Given the description of an element on the screen output the (x, y) to click on. 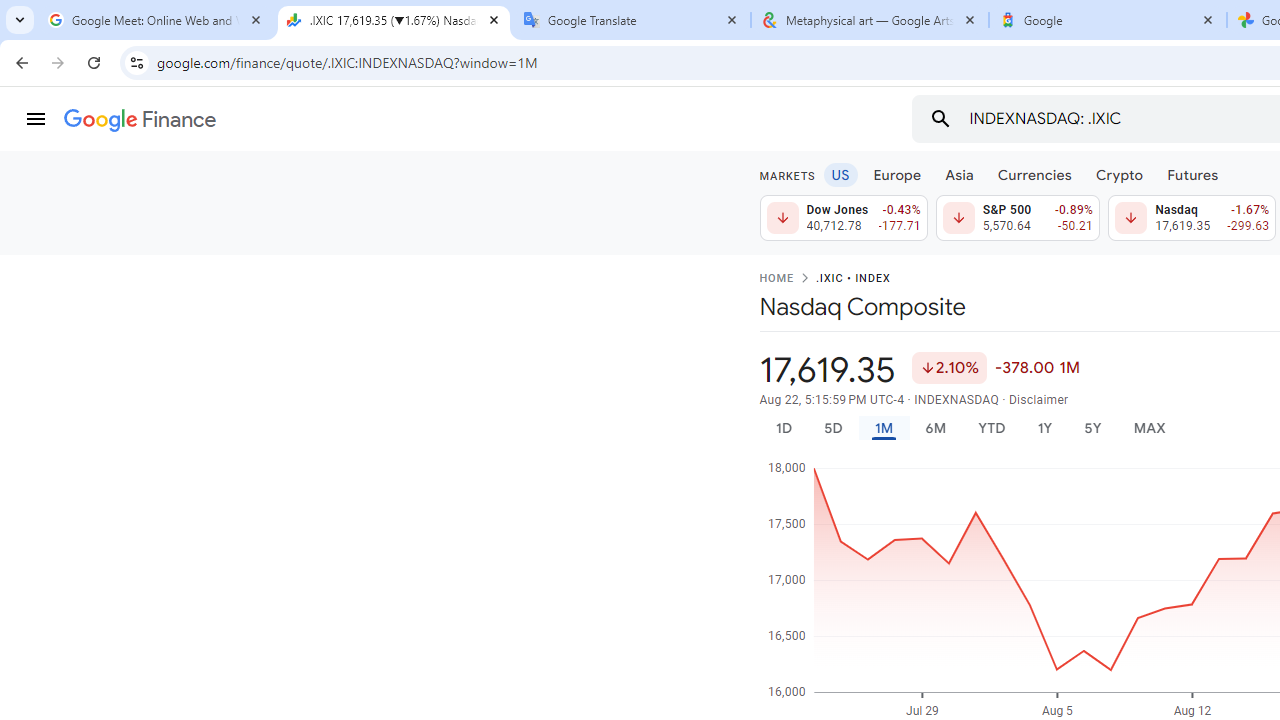
5Y (1092, 427)
YTD (991, 427)
S&P 500 5,570.64 Down by 0.89% -50.21 (1017, 218)
Google (1108, 20)
Dow Jones 40,712.78 Down by 0.43% -177.71 (843, 218)
HOME (776, 279)
Currencies (1034, 174)
MAX (1149, 427)
US (840, 174)
Disclaimer (1038, 399)
